Given the description of an element on the screen output the (x, y) to click on. 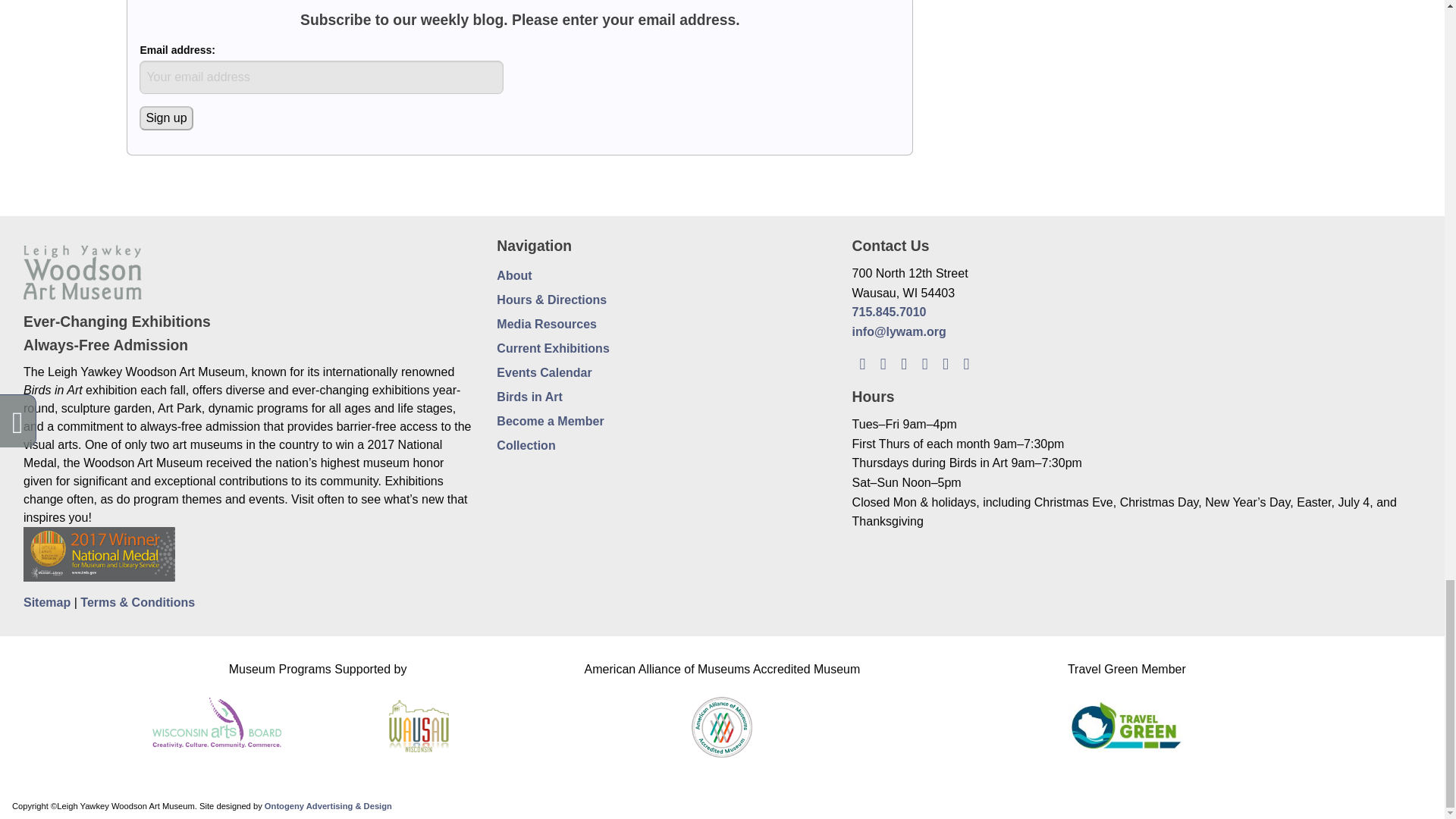
Follow Us on Twitter (903, 362)
Travel Green Wisconsin (1125, 722)
Woodson Art Museum Blog (861, 362)
Instagram (924, 362)
Sign up (165, 118)
Contact Us (966, 362)
Wisconsin Arts Board (216, 717)
Like Us on Facebook (882, 362)
Watch Our Videos on YouTube (944, 362)
City of Wausau (419, 722)
American Alliance of Museums (721, 722)
